Given the description of an element on the screen output the (x, y) to click on. 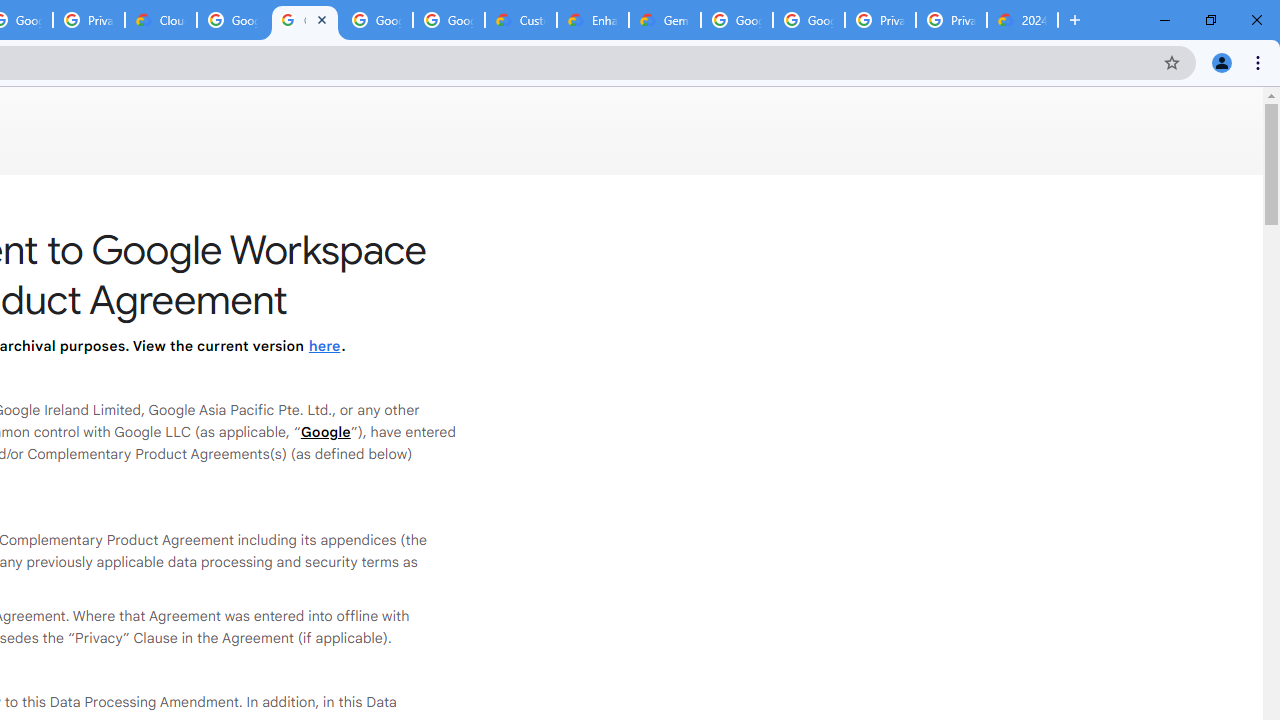
here (324, 345)
Google Workspace - Specific Terms (449, 20)
Google Cloud Platform (737, 20)
Google Workspace - Specific Terms (376, 20)
Enhanced Support | Google Cloud (592, 20)
Google Cloud Platform (808, 20)
